Given the description of an element on the screen output the (x, y) to click on. 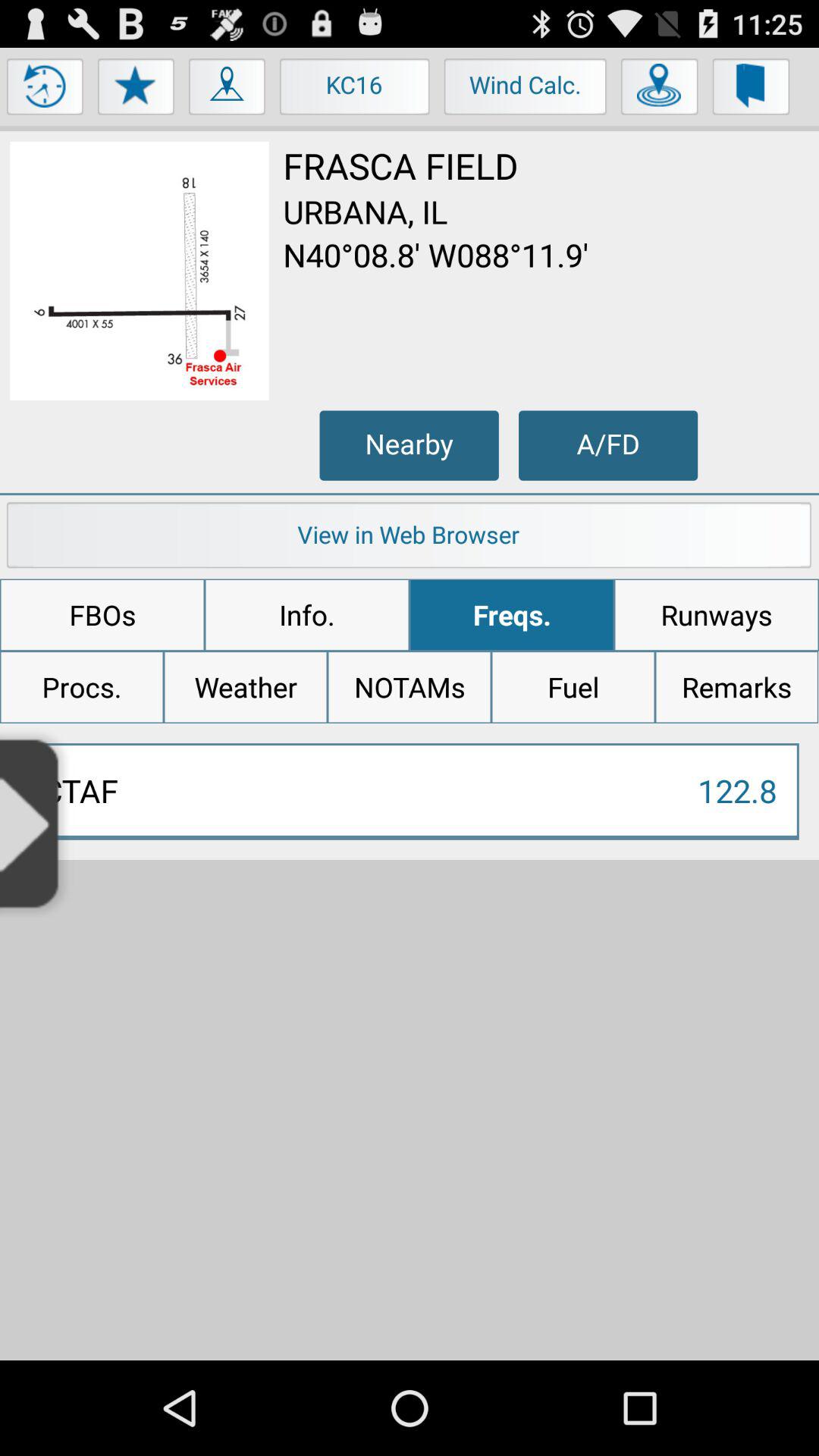
tap for map (227, 90)
